Given the description of an element on the screen output the (x, y) to click on. 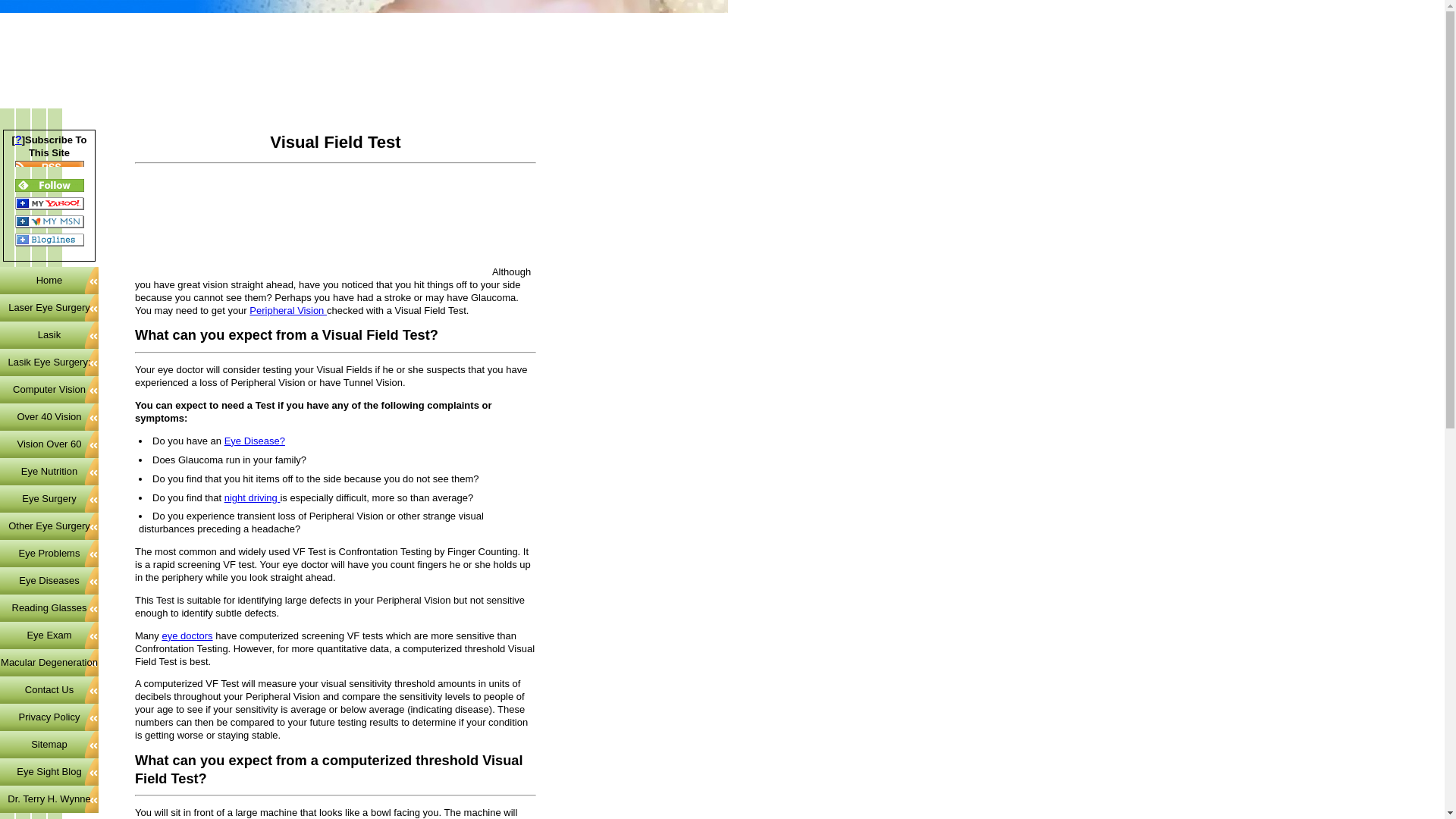
Computer Vision (49, 389)
Eye Diseases (49, 580)
Eye Surgery (49, 498)
Eye Nutrition (49, 471)
Advertisement (312, 252)
Laser Eye Surgery (49, 307)
Lasik Eye Surgery: (49, 361)
Lasik (49, 334)
Sitemap (49, 744)
Eye Disease? (254, 440)
